Given the description of an element on the screen output the (x, y) to click on. 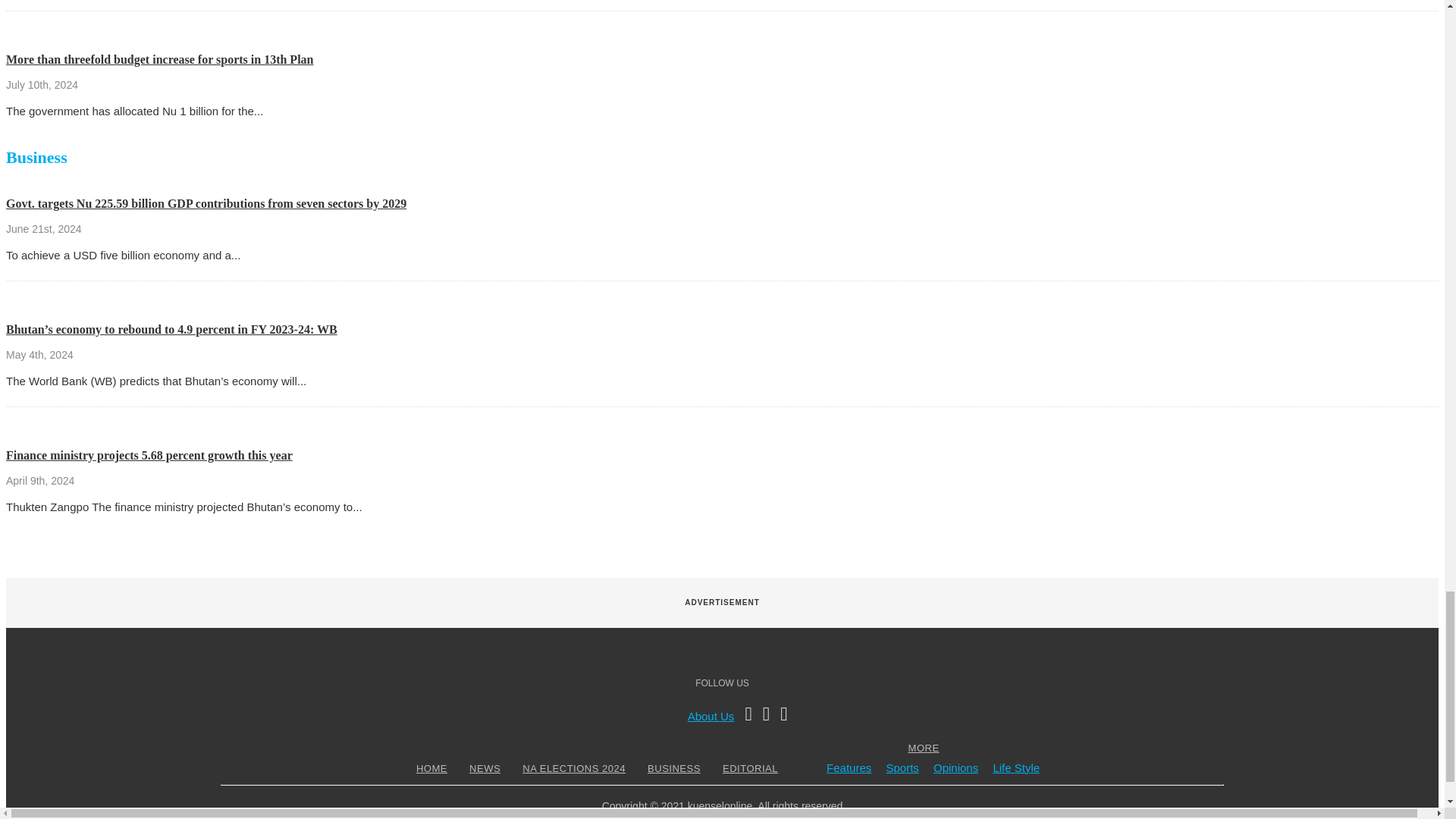
NA ELECTIONS 2024 (573, 767)
More than threefold budget increase for sports in 13th Plan (159, 59)
Finance ministry projects 5.68 percent growth this year (148, 454)
MORE (923, 747)
About Us (711, 716)
HOME (431, 767)
NEWS (484, 767)
EDITORIAL (750, 767)
BUSINESS (673, 767)
